Given the description of an element on the screen output the (x, y) to click on. 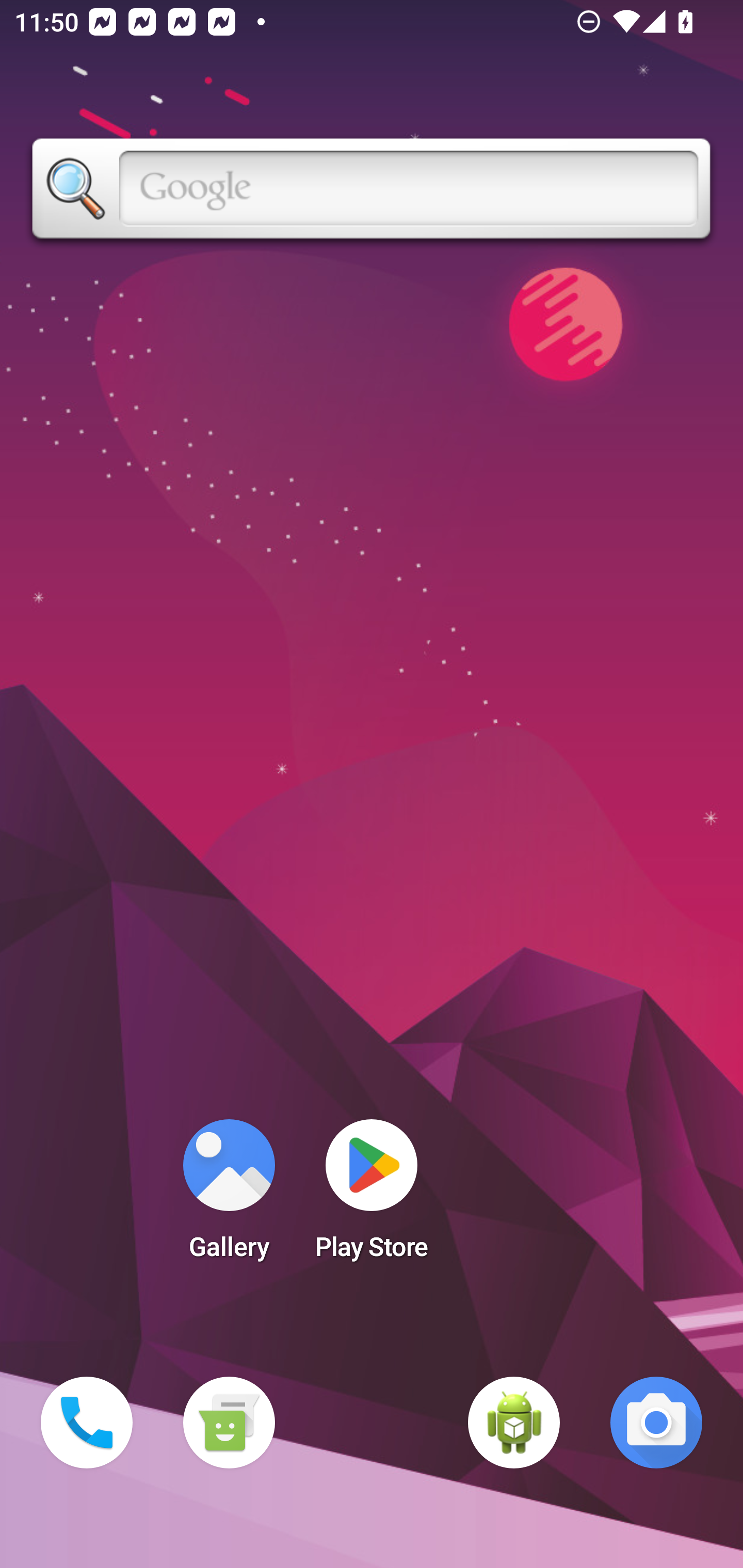
Gallery (228, 1195)
Play Store (371, 1195)
Phone (86, 1422)
Messaging (228, 1422)
WebView Browser Tester (513, 1422)
Camera (656, 1422)
